Given the description of an element on the screen output the (x, y) to click on. 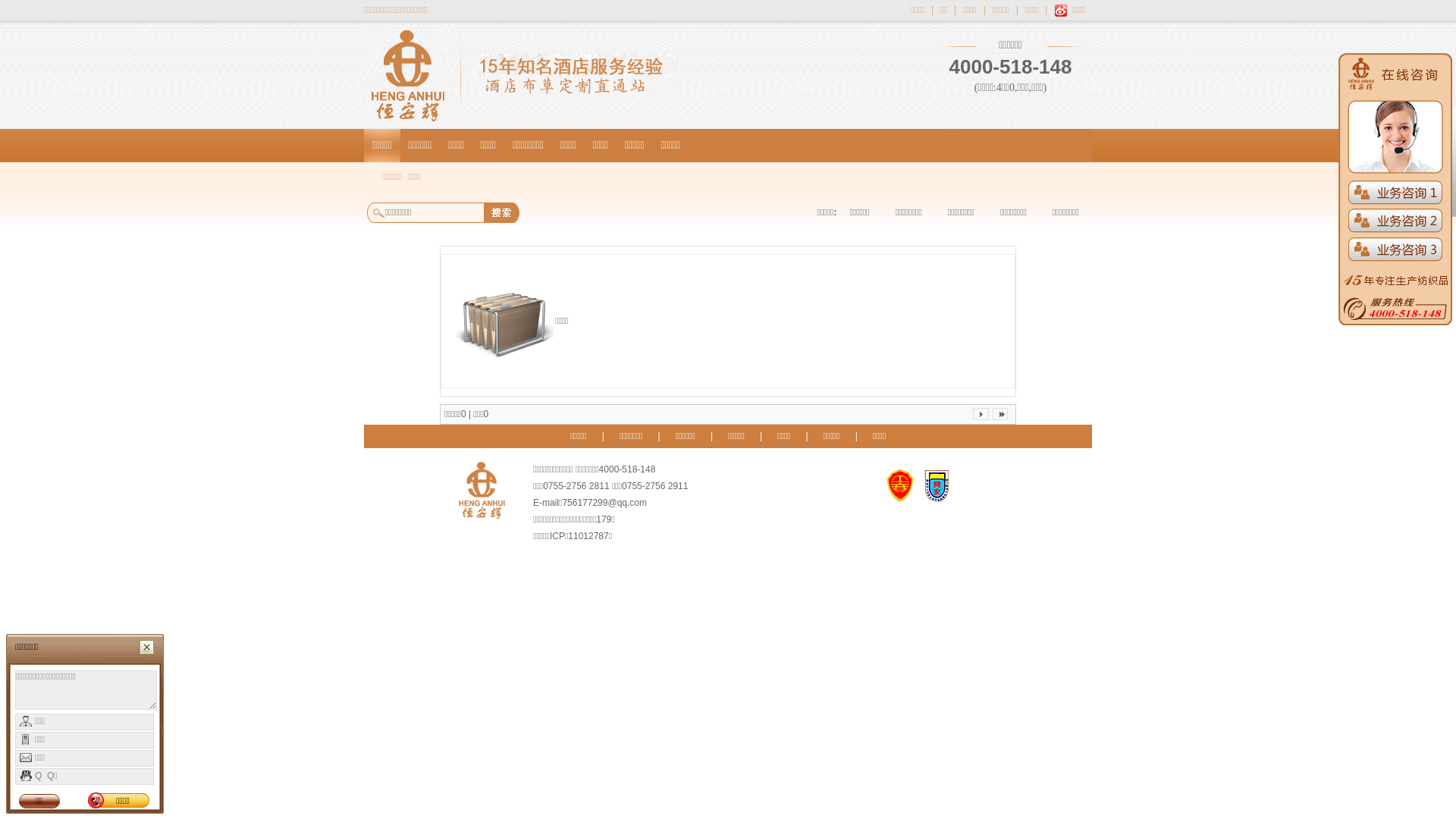
  Element type: text (1395, 189)
  Element type: text (980, 413)
  Element type: text (999, 413)
  Element type: text (1395, 278)
  Element type: text (1327, 146)
